Given the description of an element on the screen output the (x, y) to click on. 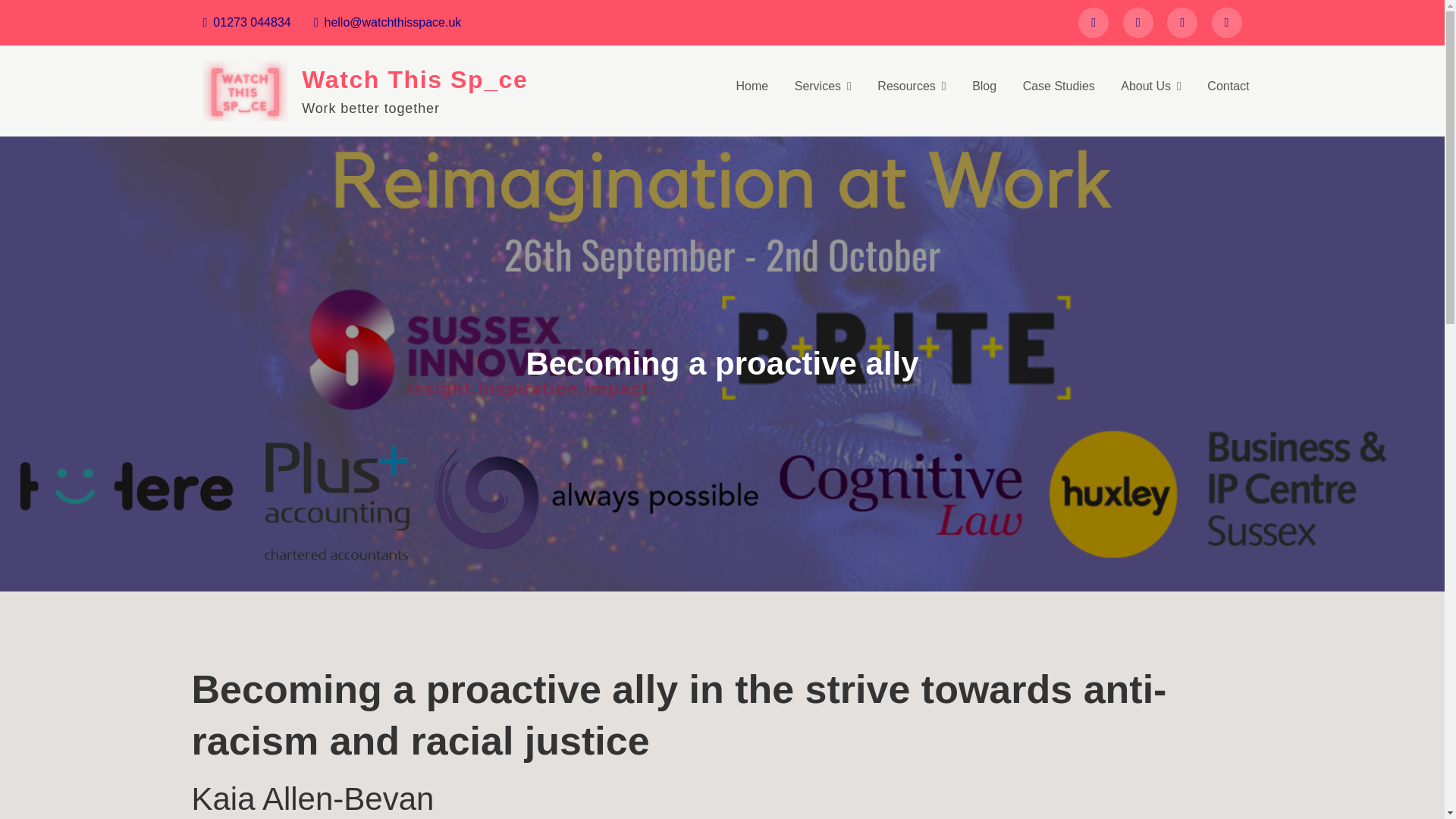
Blog (983, 86)
Case Studies (1058, 86)
Home (752, 86)
Resources (910, 86)
Contact (1228, 86)
About Us (1150, 86)
Services (822, 86)
01273 044834 (247, 21)
